Given the description of an element on the screen output the (x, y) to click on. 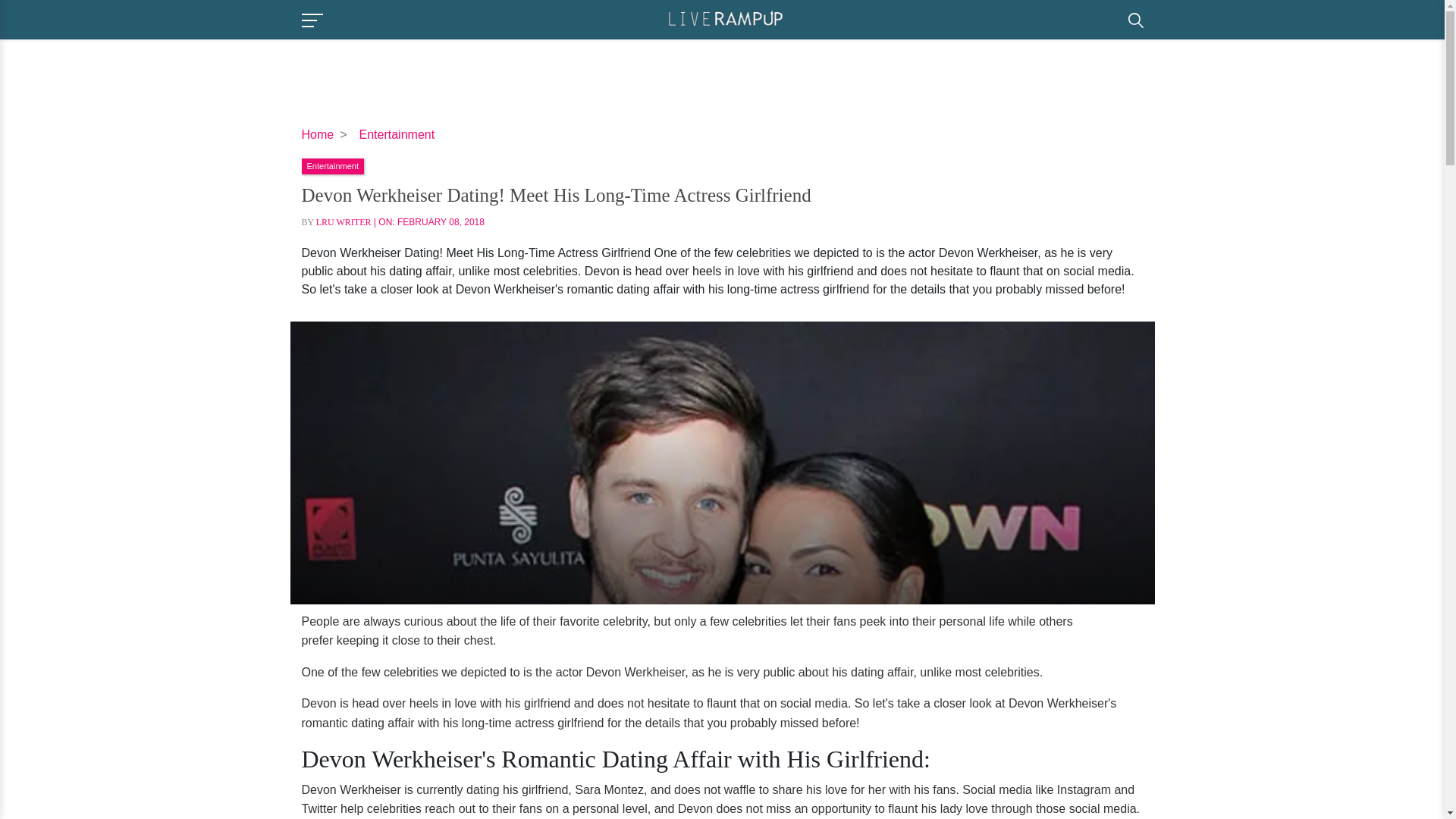
LRU WRITER (343, 222)
Home (317, 133)
Entertainment (397, 133)
Entertainment (332, 164)
Liverampup (725, 17)
